Given the description of an element on the screen output the (x, y) to click on. 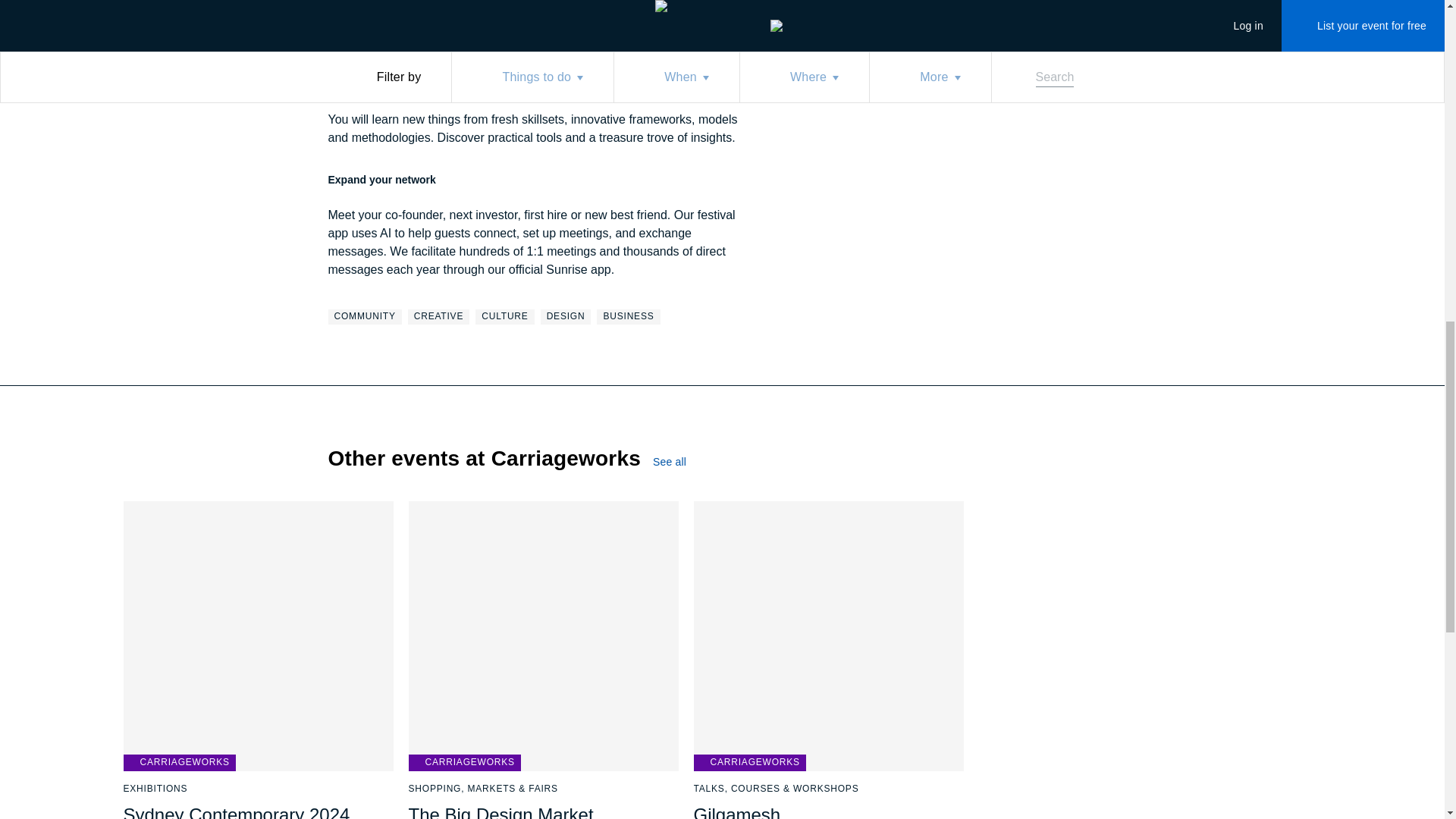
COMMUNITY (364, 316)
Community (364, 316)
CARRIAGEWORKS (463, 762)
Creative (438, 316)
CARRIAGEWORKS (178, 762)
EXHIBITIONS (154, 788)
CREATIVE (438, 316)
Culture (505, 316)
Sydney Contemporary 2024 (235, 811)
See all (682, 461)
